Given the description of an element on the screen output the (x, y) to click on. 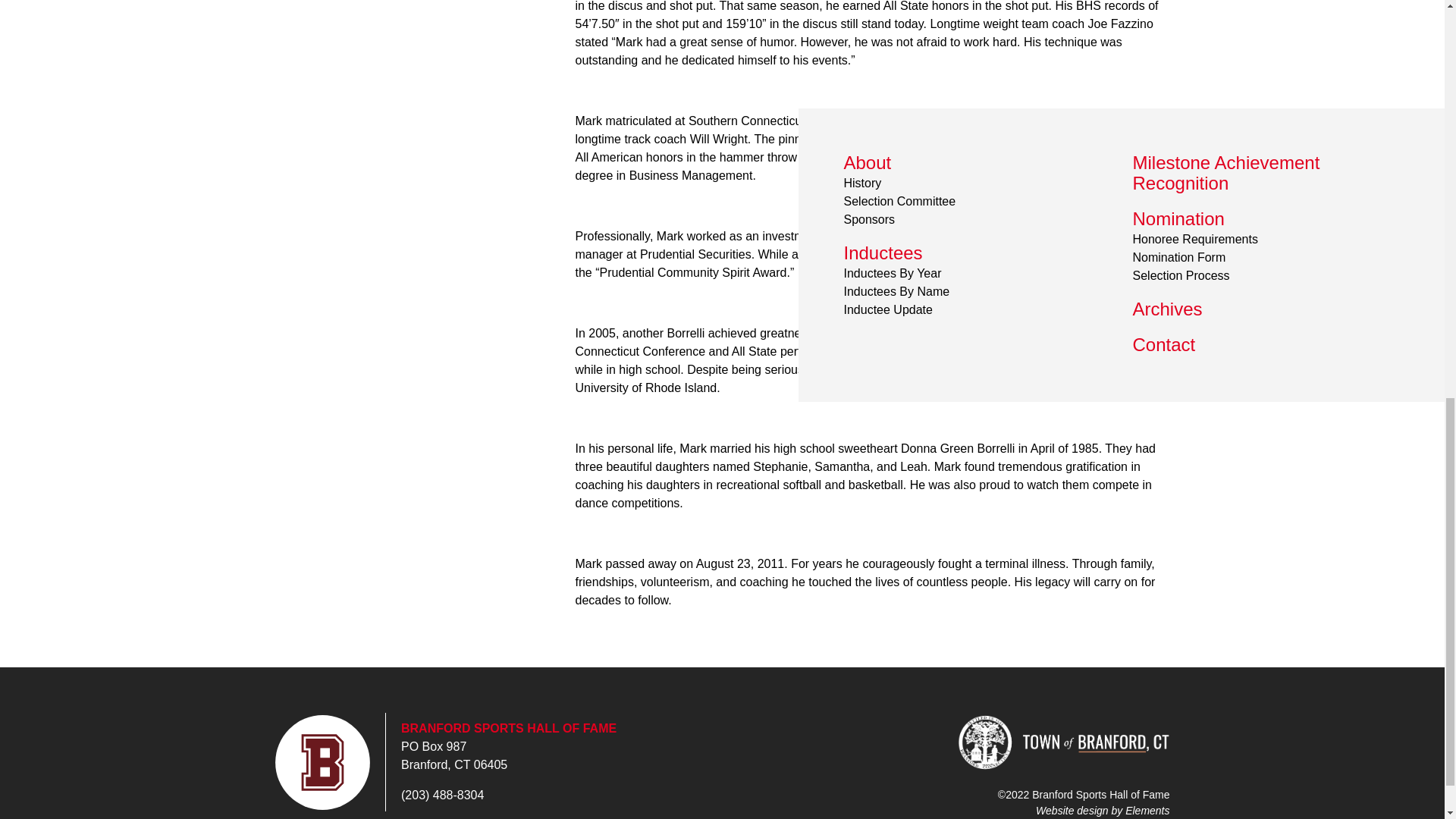
Elements (1147, 809)
